Given the description of an element on the screen output the (x, y) to click on. 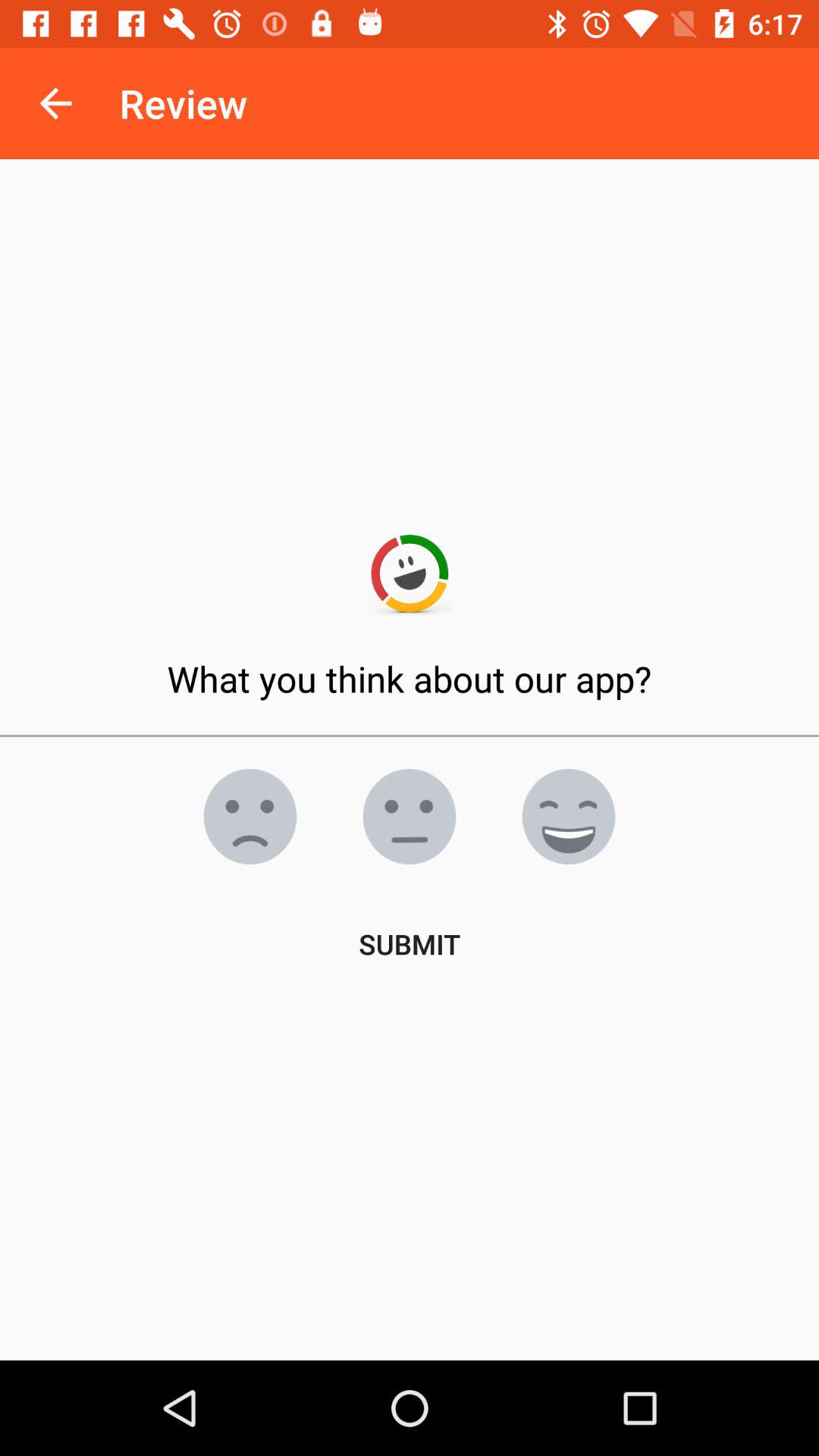
tap the submit item (409, 943)
